Given the description of an element on the screen output the (x, y) to click on. 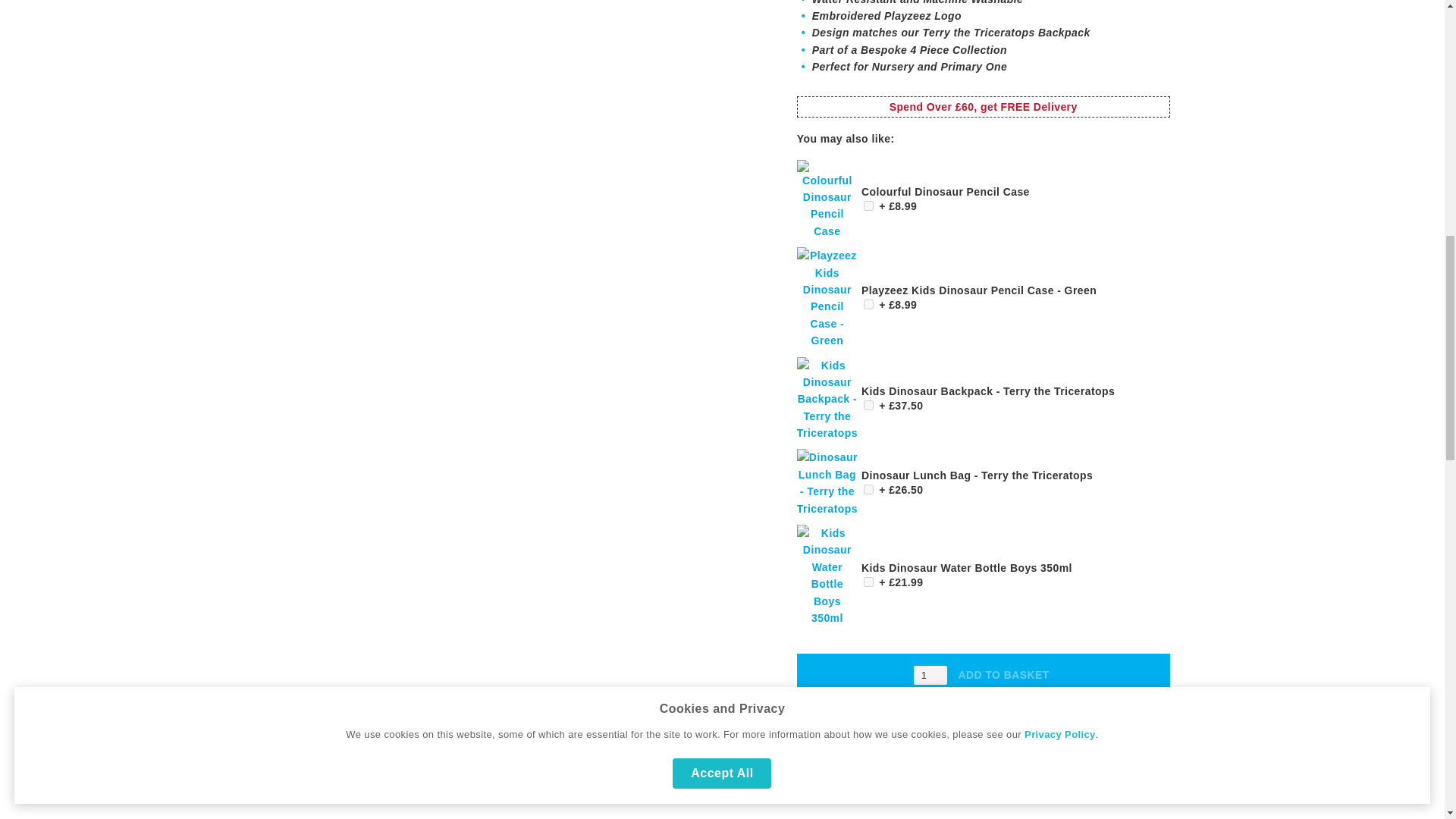
ADD TO BASKET (1004, 674)
Add to Basket (1015, 205)
1 (930, 674)
Kids Dinosaur Backpack - Terry the Triceratops (826, 432)
1 (868, 205)
1 (868, 582)
Dinosaur Lunch Bag - Terry the Triceratops (826, 508)
1 (868, 489)
ADD TO WISH LIST (914, 753)
Playzeez Kids Dinosaur Pencil Case - Green (826, 340)
